Given the description of an element on the screen output the (x, y) to click on. 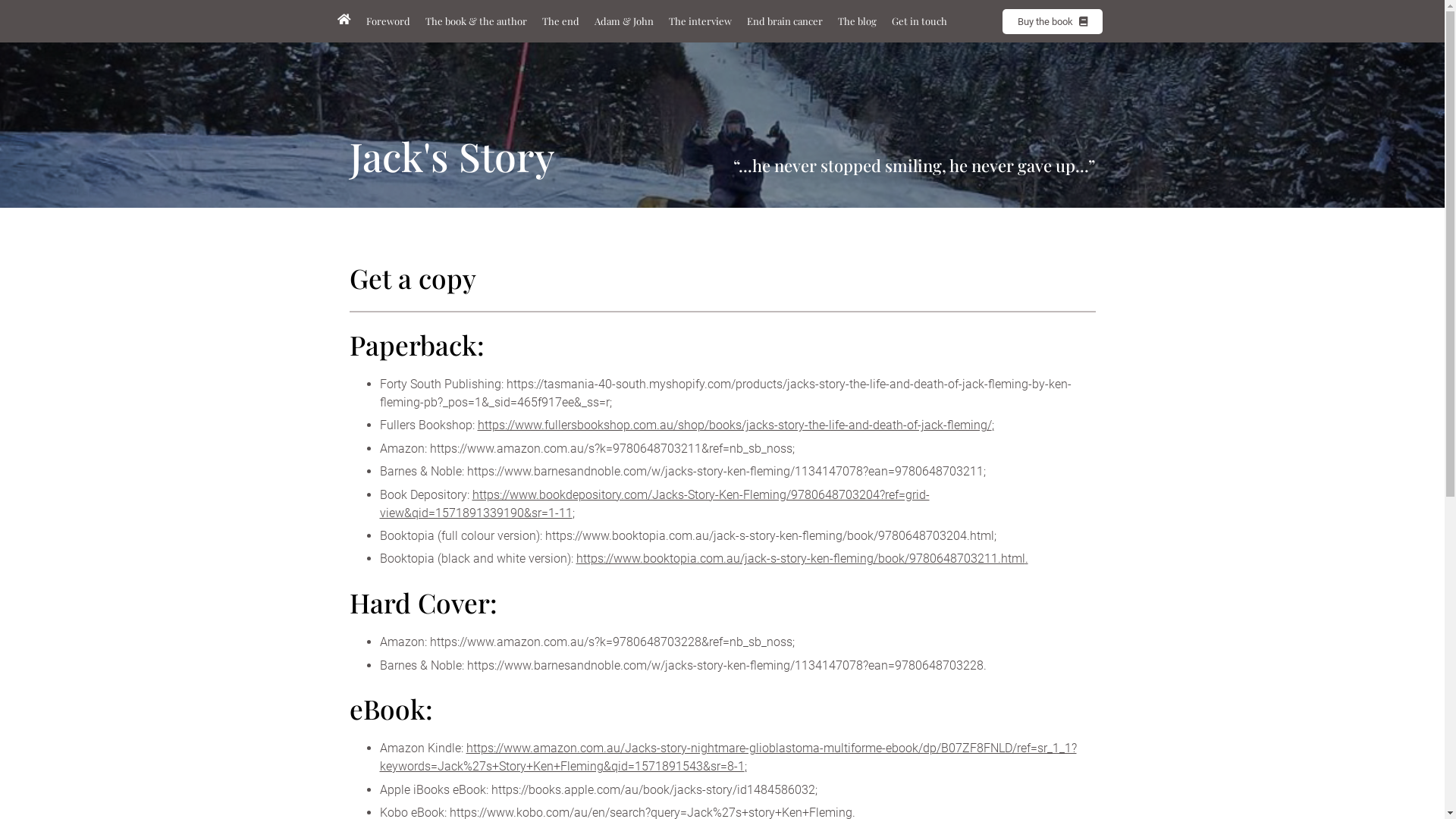
End brain cancer Element type: text (784, 20)
Adam & John Element type: text (623, 20)
Foreword Element type: text (387, 20)
https://www.amazon.com.au/s?k=9780648703211&ref=nb_sb_noss Element type: text (610, 448)
The interview Element type: text (699, 20)
The book & the author Element type: text (475, 20)
https://books.apple.com/au/book/jacks-story/id1484586032 Element type: text (653, 789)
https://www.amazon.com.au/s?k=9780648703228&ref=nb_sb_noss Element type: text (610, 641)
The end Element type: text (559, 20)
Buy the book Element type: text (1052, 21)
Get in touch Element type: text (919, 20)
Home Element type: text (343, 19)
The blog Element type: text (856, 20)
